Given the description of an element on the screen output the (x, y) to click on. 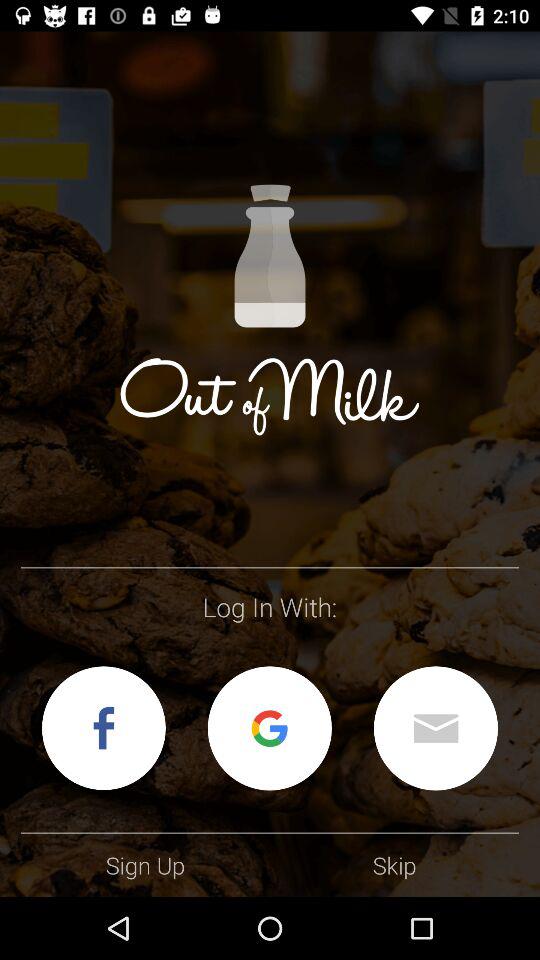
log in with your google account (269, 728)
